Given the description of an element on the screen output the (x, y) to click on. 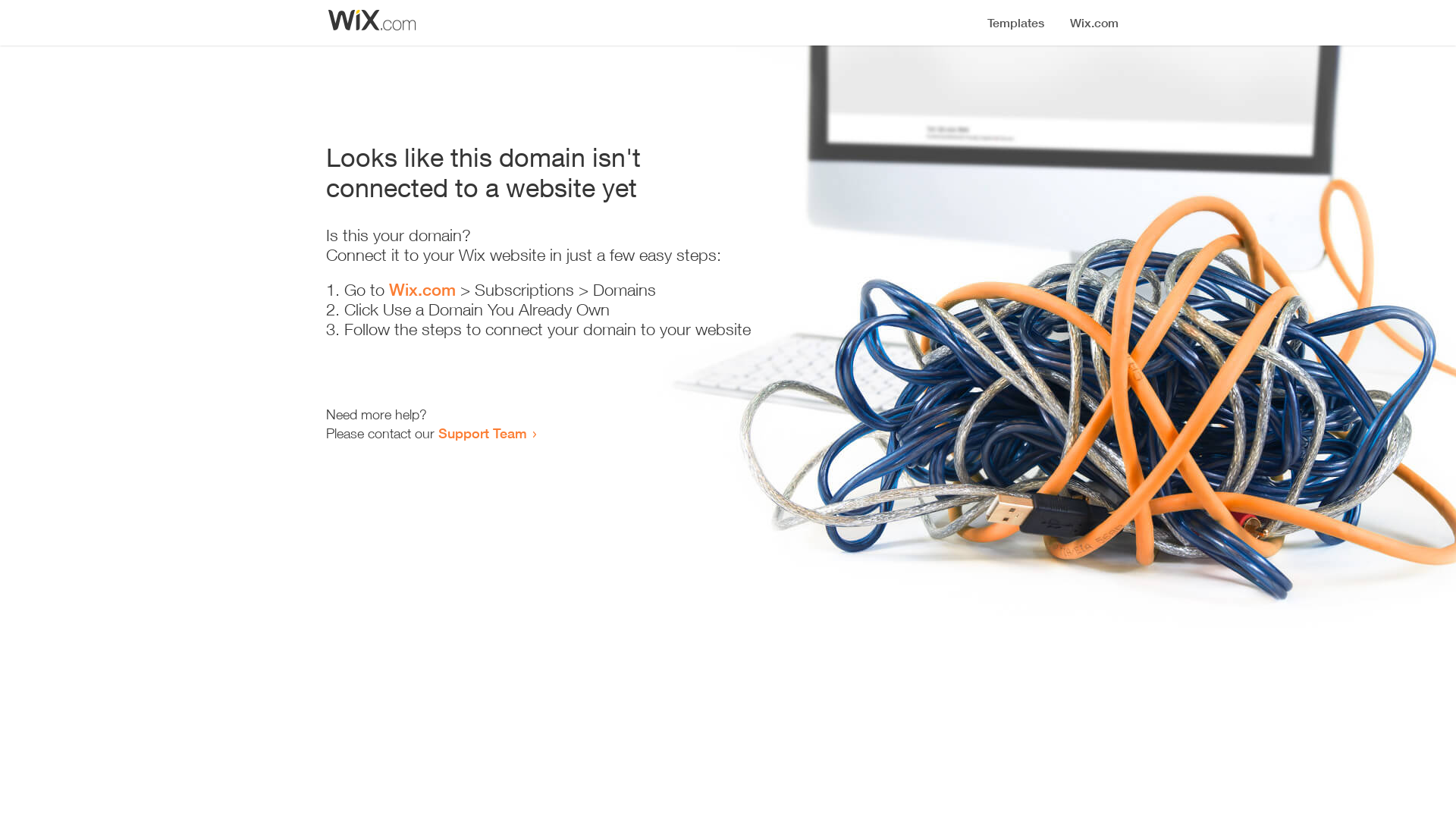
Support Team Element type: text (482, 432)
Wix.com Element type: text (422, 289)
